Given the description of an element on the screen output the (x, y) to click on. 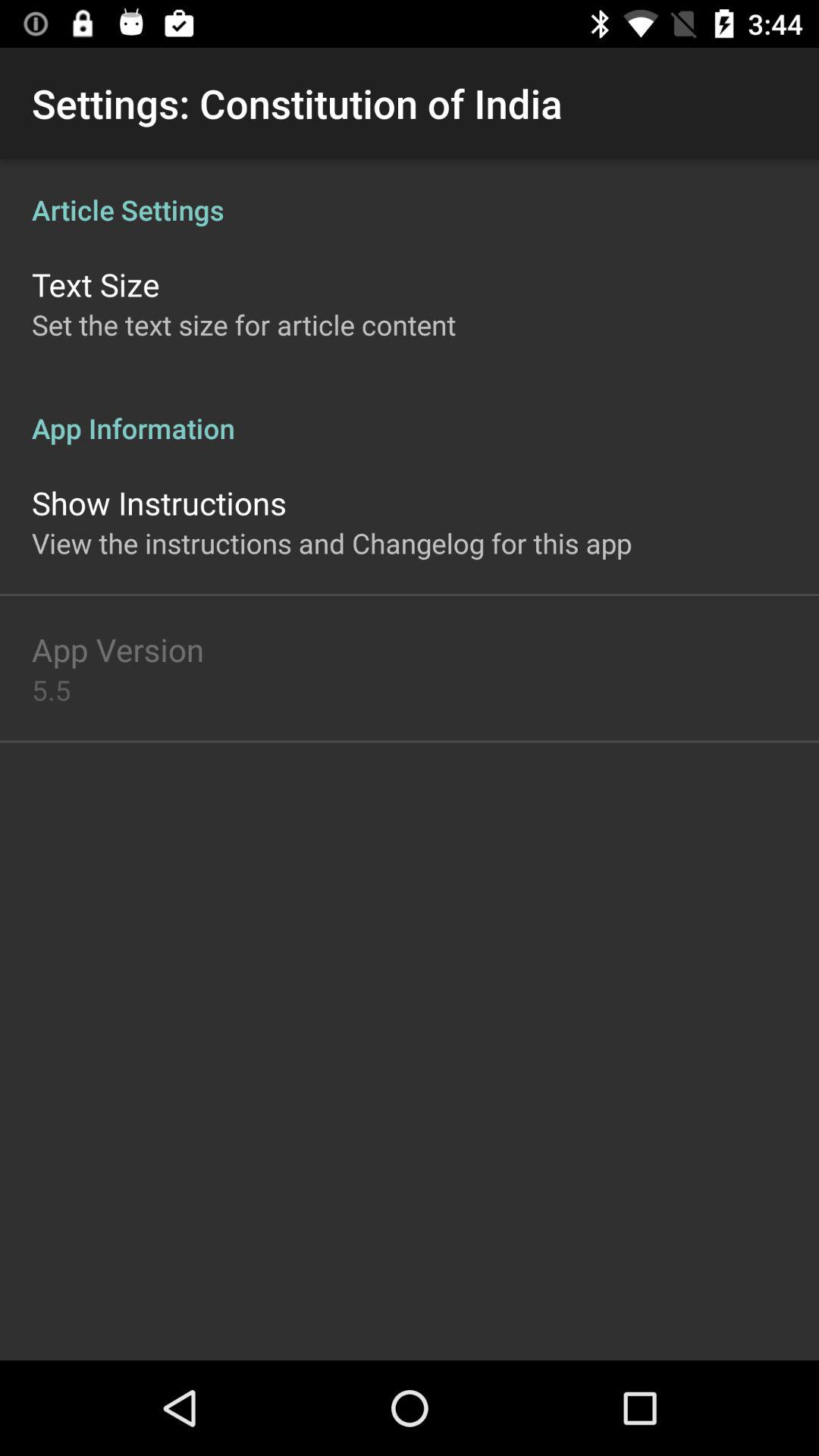
launch icon above the app version icon (331, 542)
